Given the description of an element on the screen output the (x, y) to click on. 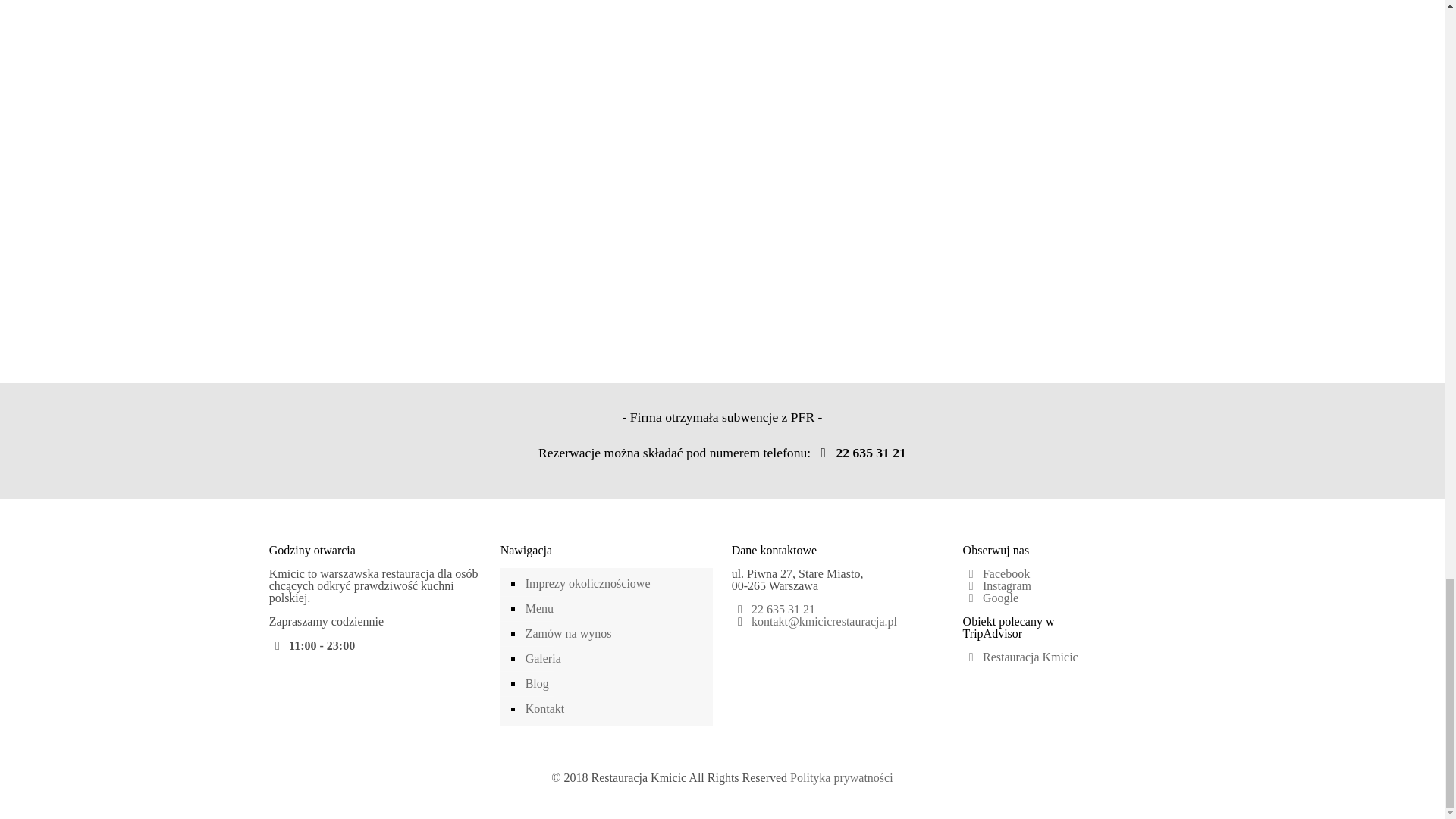
Instagram (996, 585)
Google (989, 597)
Galeria (614, 659)
22 635 31 21 (859, 452)
Facebook (711, 797)
22 635 31 21 (783, 608)
Menu (614, 609)
Kontakt (614, 708)
Instagram (731, 797)
Blog (614, 683)
Facebook (996, 573)
Restauracja Kmicic (1020, 656)
